Given the description of an element on the screen output the (x, y) to click on. 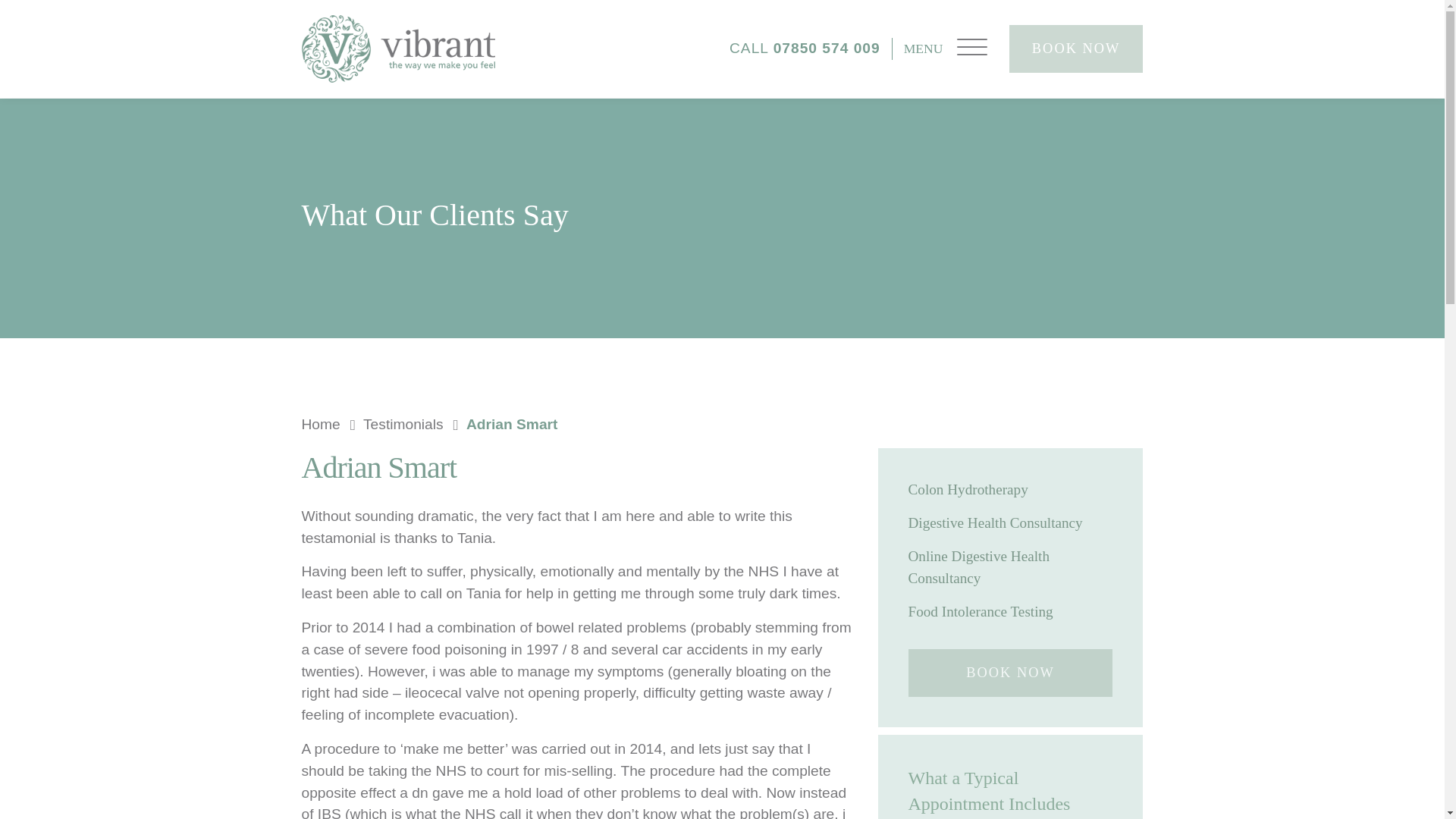
My Vibrant Feeling (398, 48)
Online Digestive Health Consultancy (1010, 566)
Testimonials (412, 424)
MENU (945, 48)
CALL 07850 574 009 (810, 48)
Colon Hydrotherapy (1010, 489)
Home (330, 424)
BOOK NOW (1010, 673)
Digestive Health Consultancy (1010, 522)
Food Intolerance Testing (1010, 611)
